Given the description of an element on the screen output the (x, y) to click on. 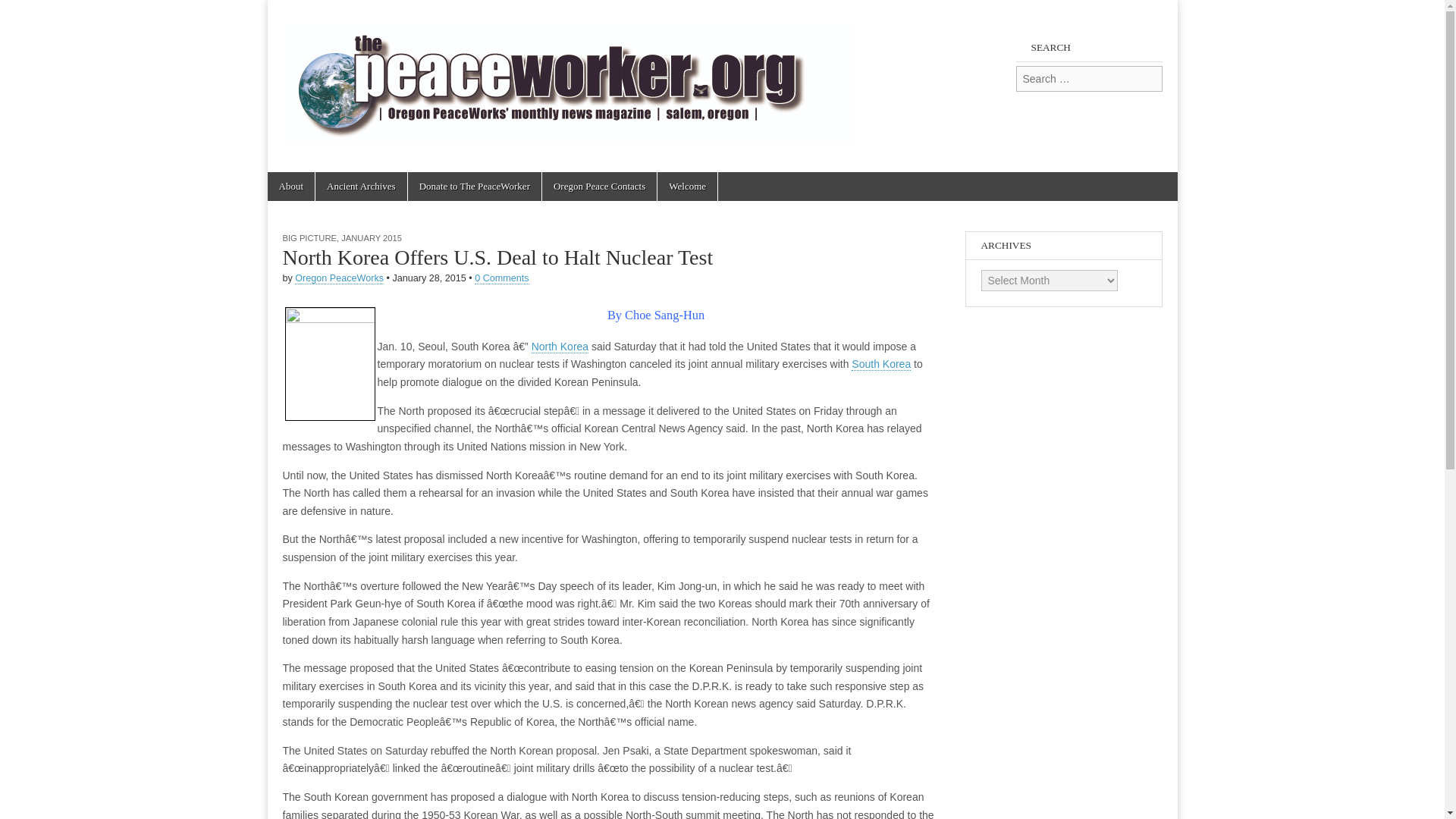
Search (23, 12)
The PeaceWorker (411, 189)
Donate to The PeaceWorker (474, 185)
North Korea (559, 346)
About (290, 185)
Posts by Oregon PeaceWorks (339, 278)
BIG PICTURE (309, 237)
Ancient Archives (361, 185)
JANUARY 2015 (370, 237)
